Given the description of an element on the screen output the (x, y) to click on. 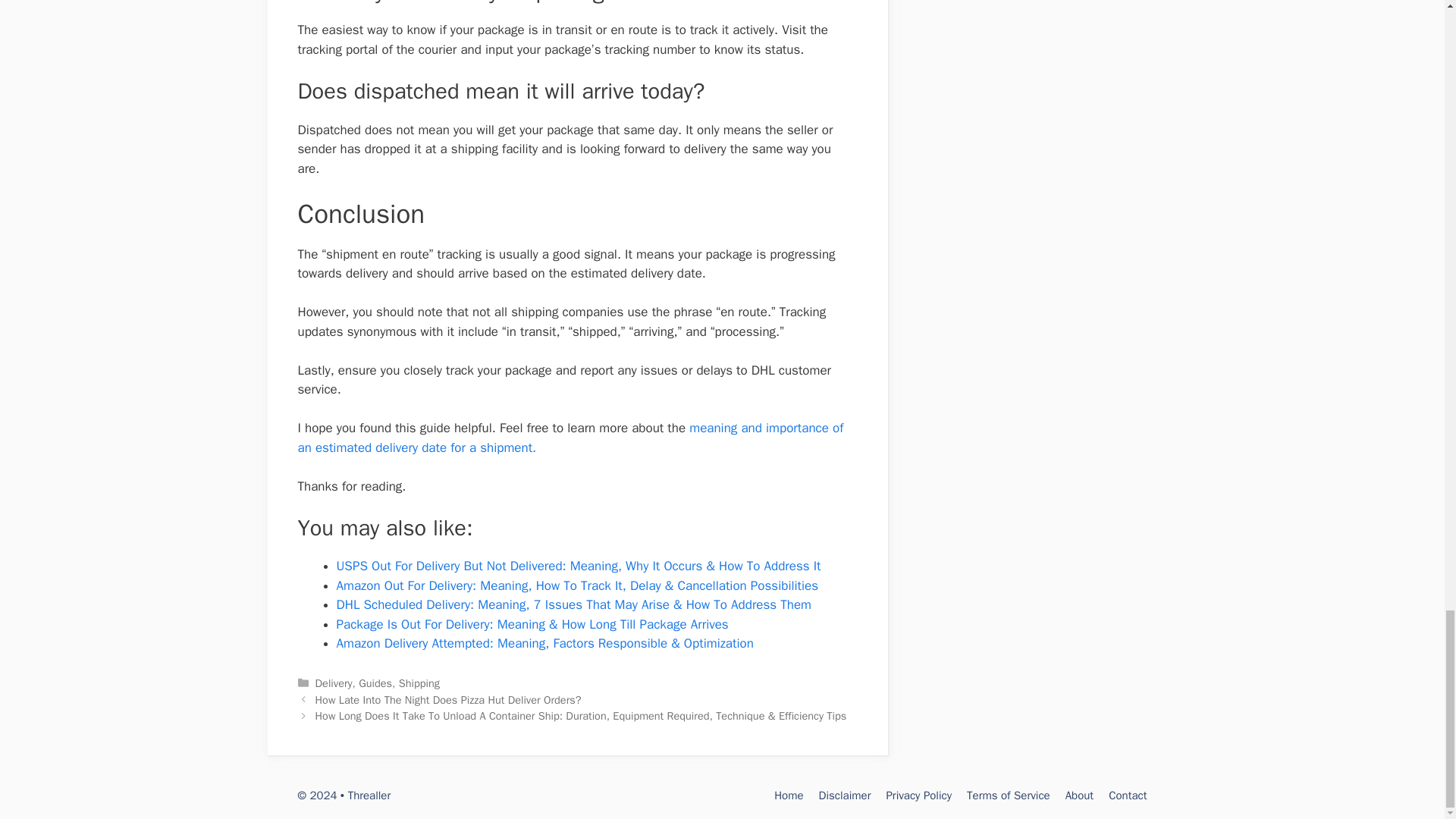
Guides (374, 683)
Disclaimer (844, 795)
Privacy Policy (918, 795)
Shipping (418, 683)
Delivery (333, 683)
Home (788, 795)
Terms of Service (1007, 795)
How Late Into The Night Does Pizza Hut Deliver Orders? (447, 699)
